Given the description of an element on the screen output the (x, y) to click on. 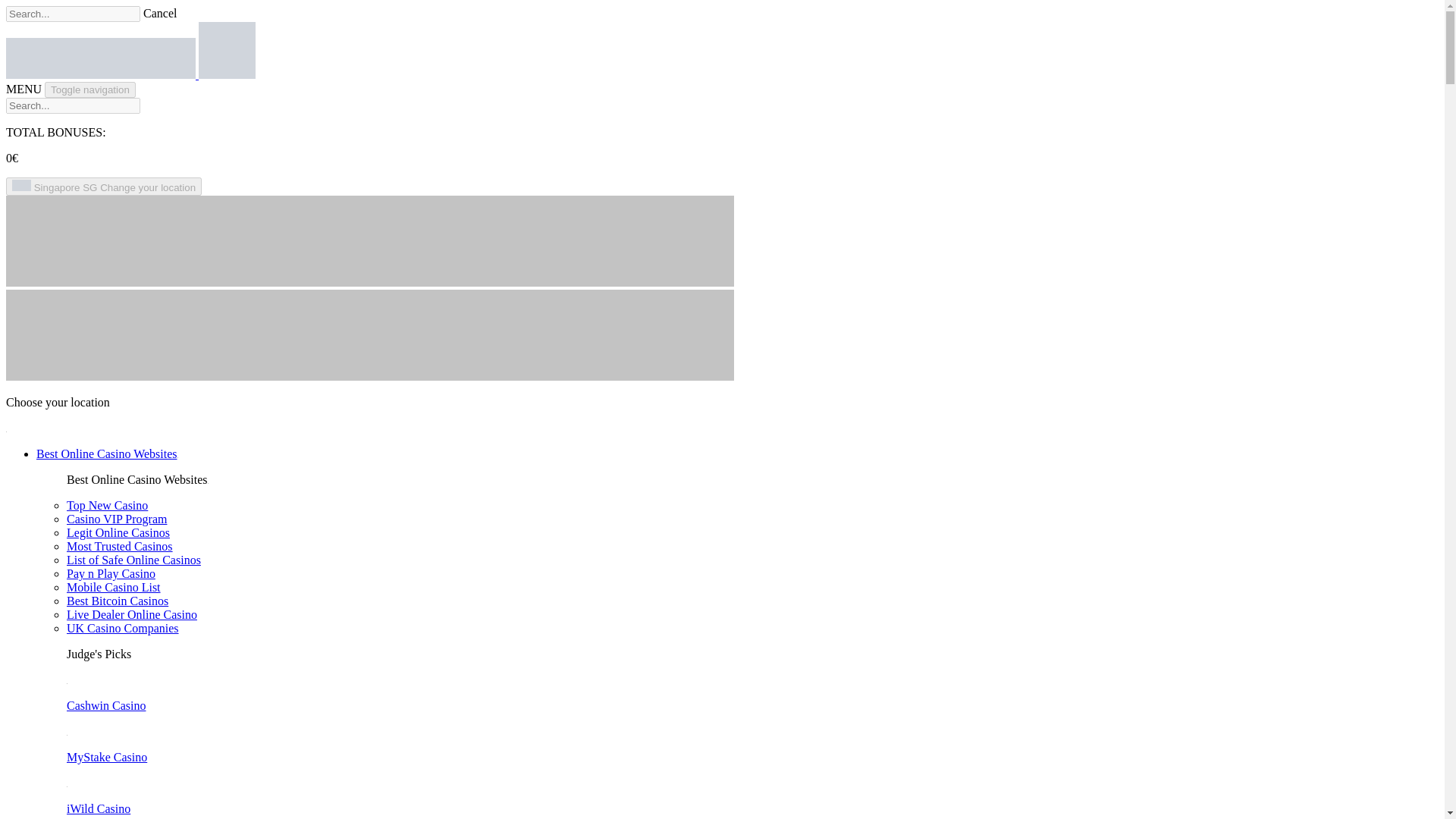
Legit Online Casinos (118, 532)
Casino VIP Program (116, 518)
Singapore SG Change your location (103, 186)
Singapore SG (103, 186)
Mobile Casino List (113, 586)
Best Online Casino Websites (106, 453)
UK Casino Companies (122, 627)
Most Trusted Casinos (119, 545)
Live Dealer Online Casino (131, 614)
Search Gambling Judge (72, 105)
